Given the description of an element on the screen output the (x, y) to click on. 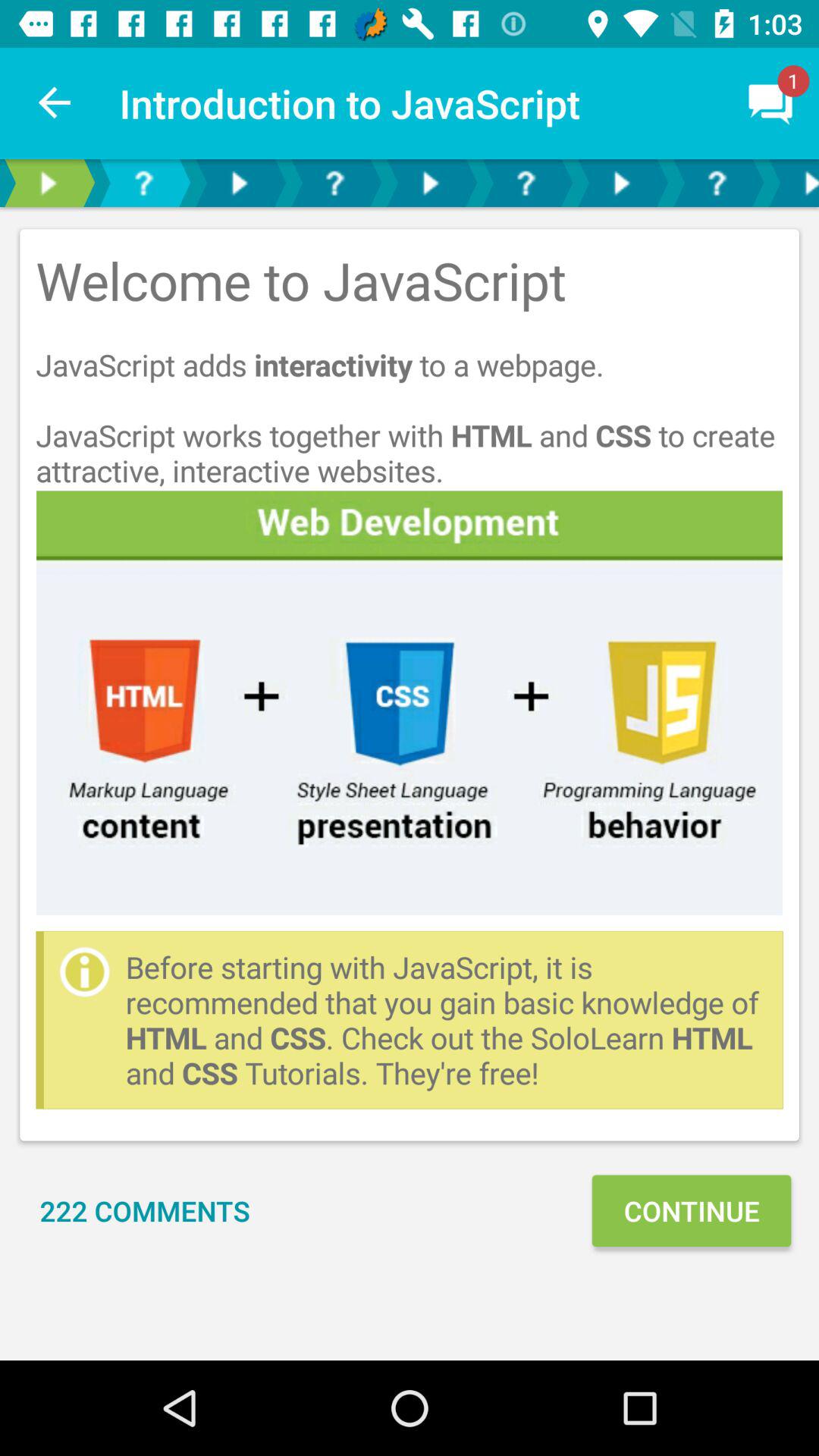
open the icon at the center (409, 702)
